Given the description of an element on the screen output the (x, y) to click on. 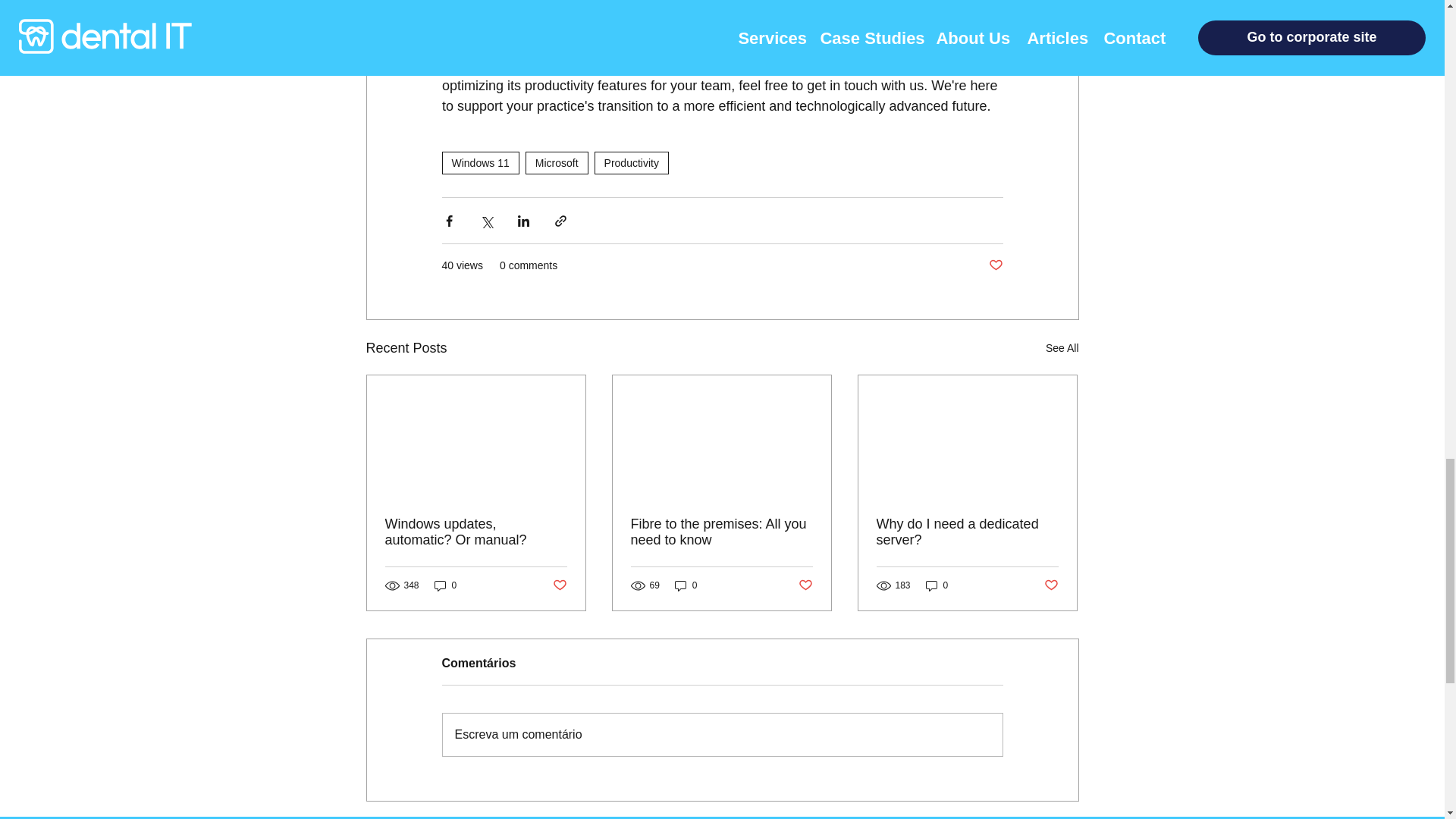
Post not marked as liked (804, 585)
Why do I need a dedicated server? (967, 531)
0 (685, 585)
Microsoft (556, 162)
Post not marked as liked (1050, 585)
Post not marked as liked (995, 265)
Fibre to the premises: All you need to know (721, 531)
See All (1061, 348)
Post not marked as liked (558, 585)
Windows updates, automatic? Or manual? (476, 531)
Productivity (631, 162)
Windows 11 (479, 162)
0 (445, 585)
0 (937, 585)
